Given the description of an element on the screen output the (x, y) to click on. 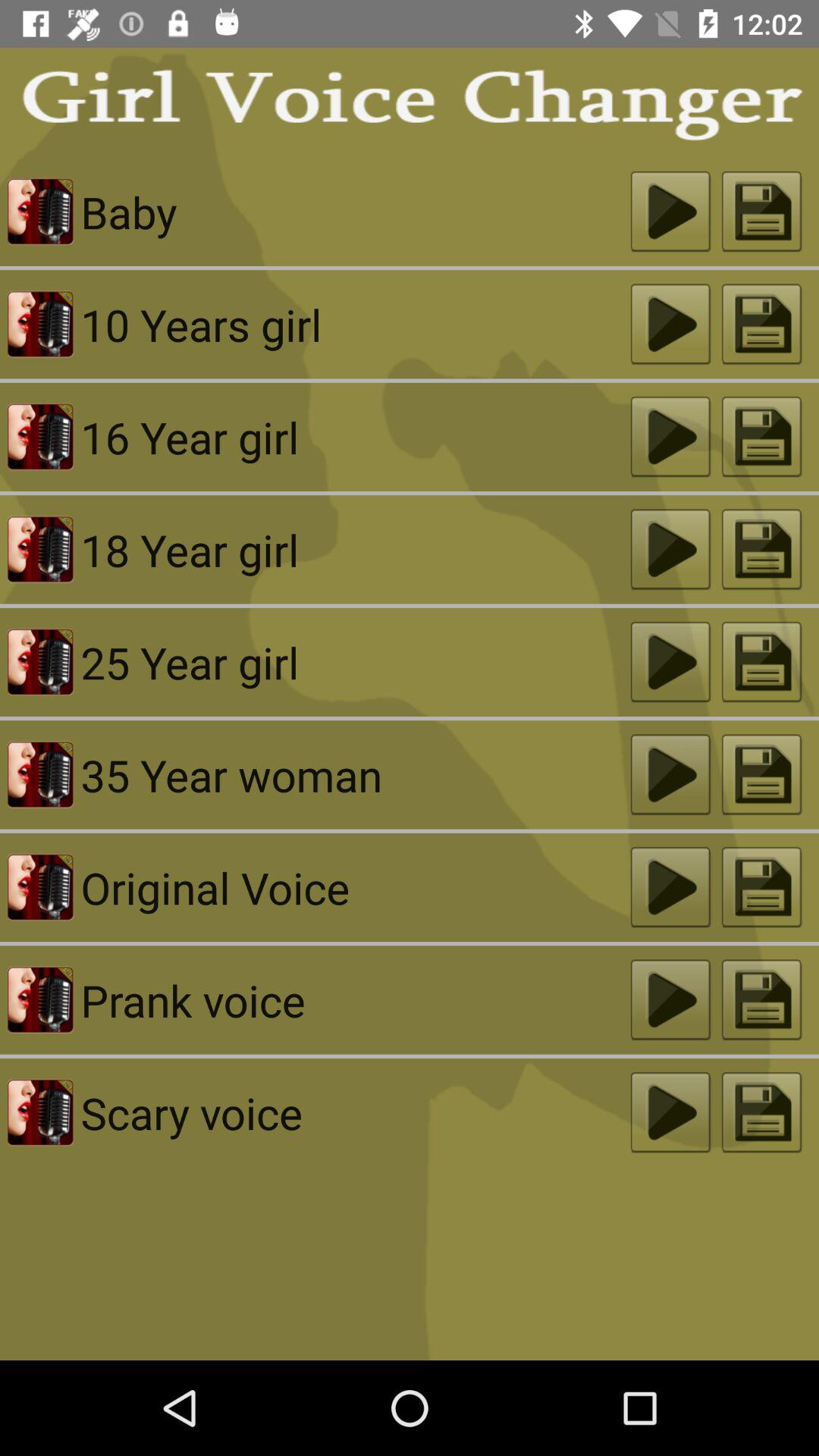
tap the 10 years girl  icon (355, 324)
